Given the description of an element on the screen output the (x, y) to click on. 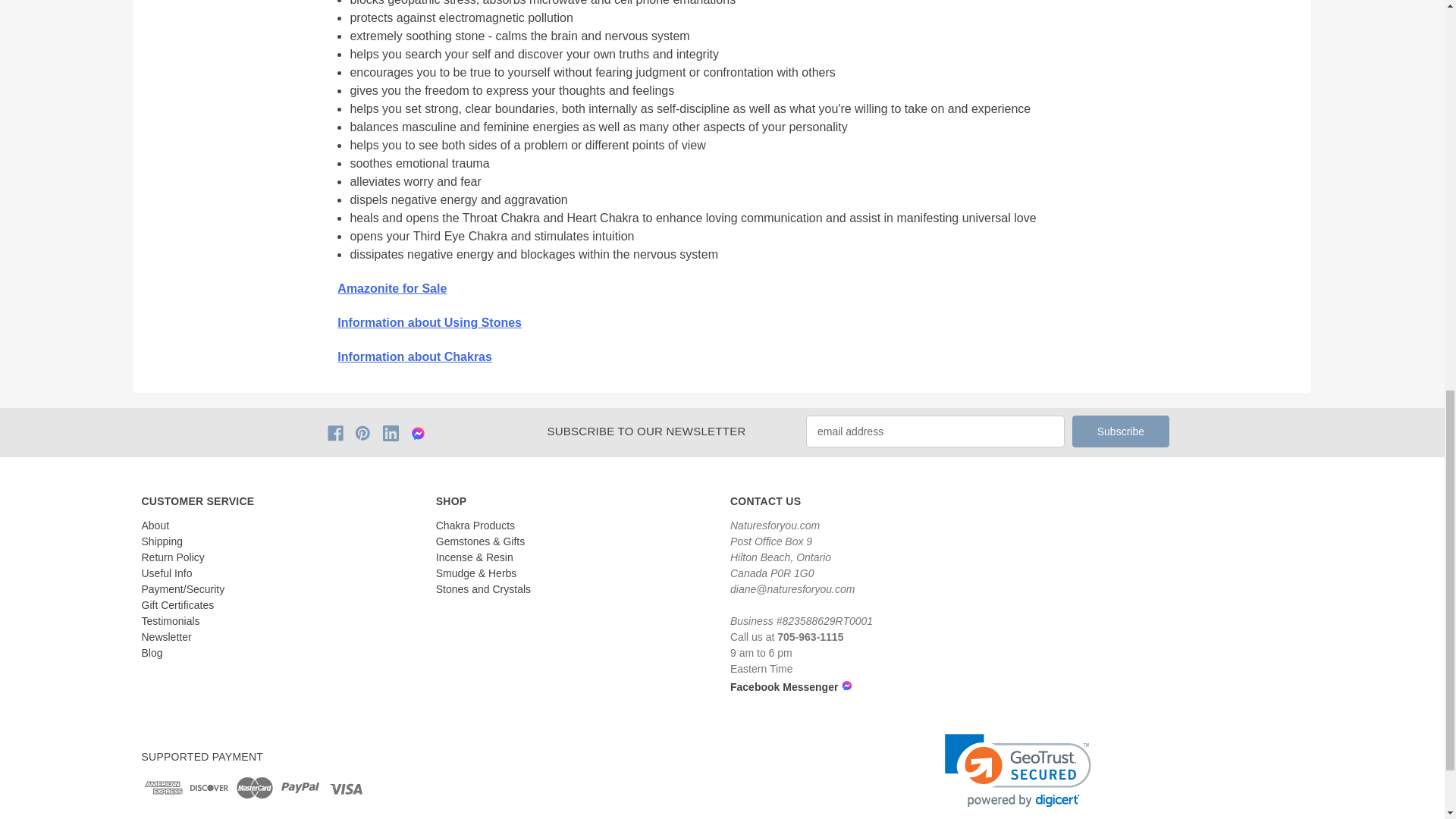
Linkedin (390, 433)
Subscribe (1120, 431)
Facebook (335, 433)
Pinterest (363, 433)
Facebook Messenger (736, 685)
